Given the description of an element on the screen output the (x, y) to click on. 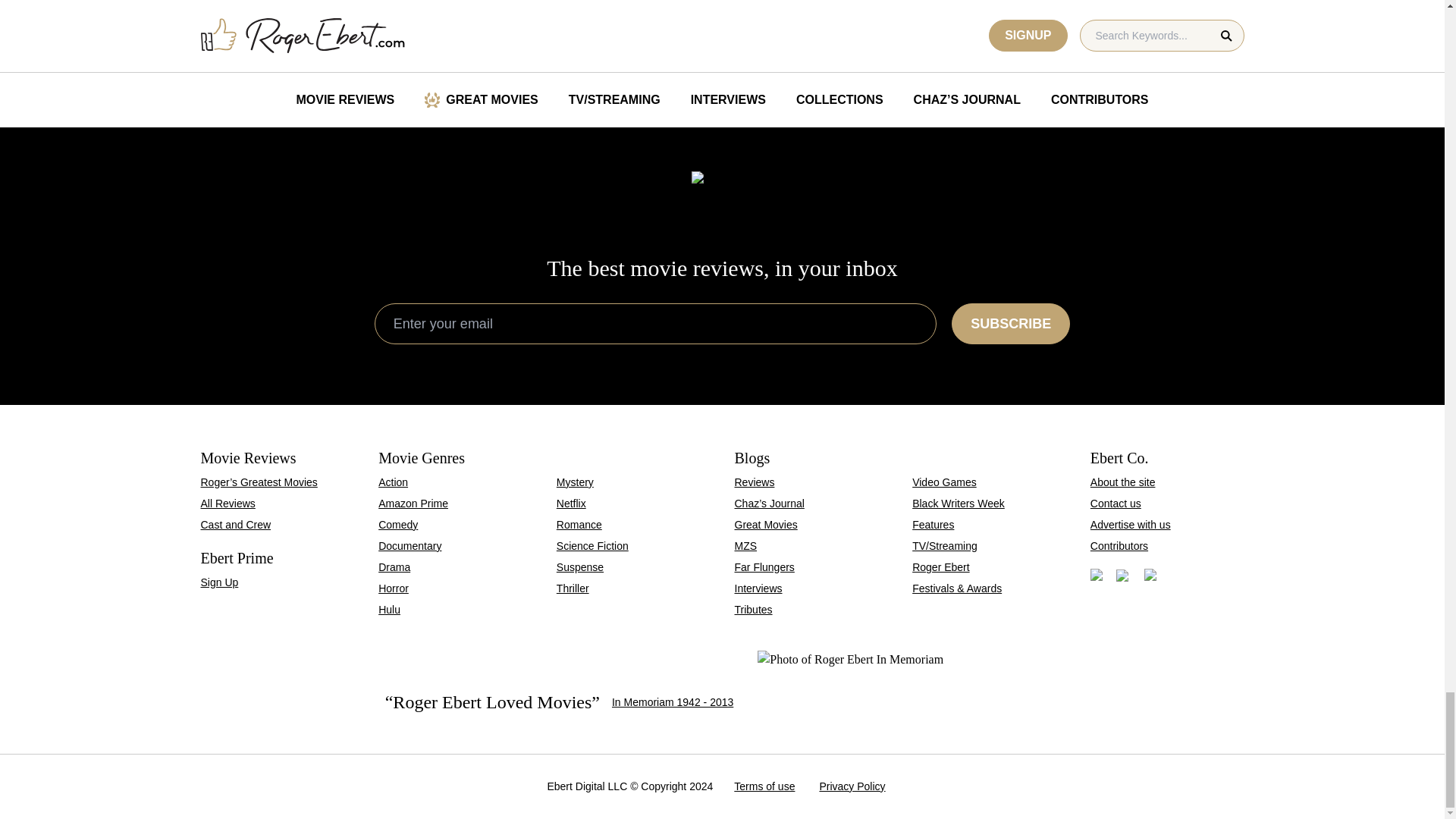
Sign Up (854, 22)
Subscribe (219, 582)
Drama (321, 22)
Documentary (1011, 323)
All Reviews (394, 567)
Subscribe (409, 545)
Action (1122, 22)
